Given the description of an element on the screen output the (x, y) to click on. 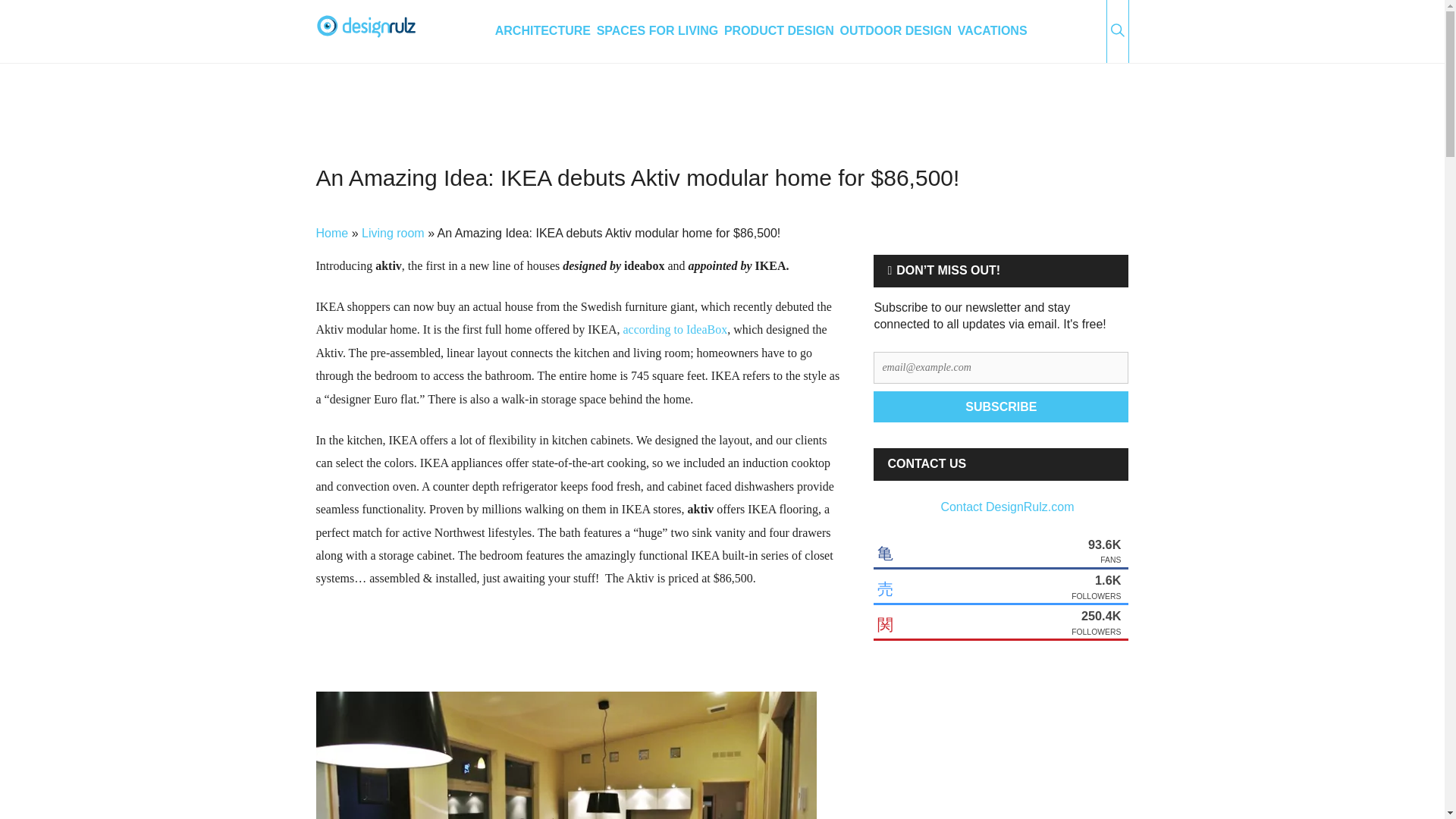
PRODUCT DESIGN (778, 31)
VACATIONS (992, 31)
ikea designrulz-00 (565, 755)
Home (331, 232)
OUTDOOR DESIGN (896, 31)
Living room (393, 232)
SPACES FOR LIVING (657, 31)
ARCHITECTURE (543, 31)
